Given the description of an element on the screen output the (x, y) to click on. 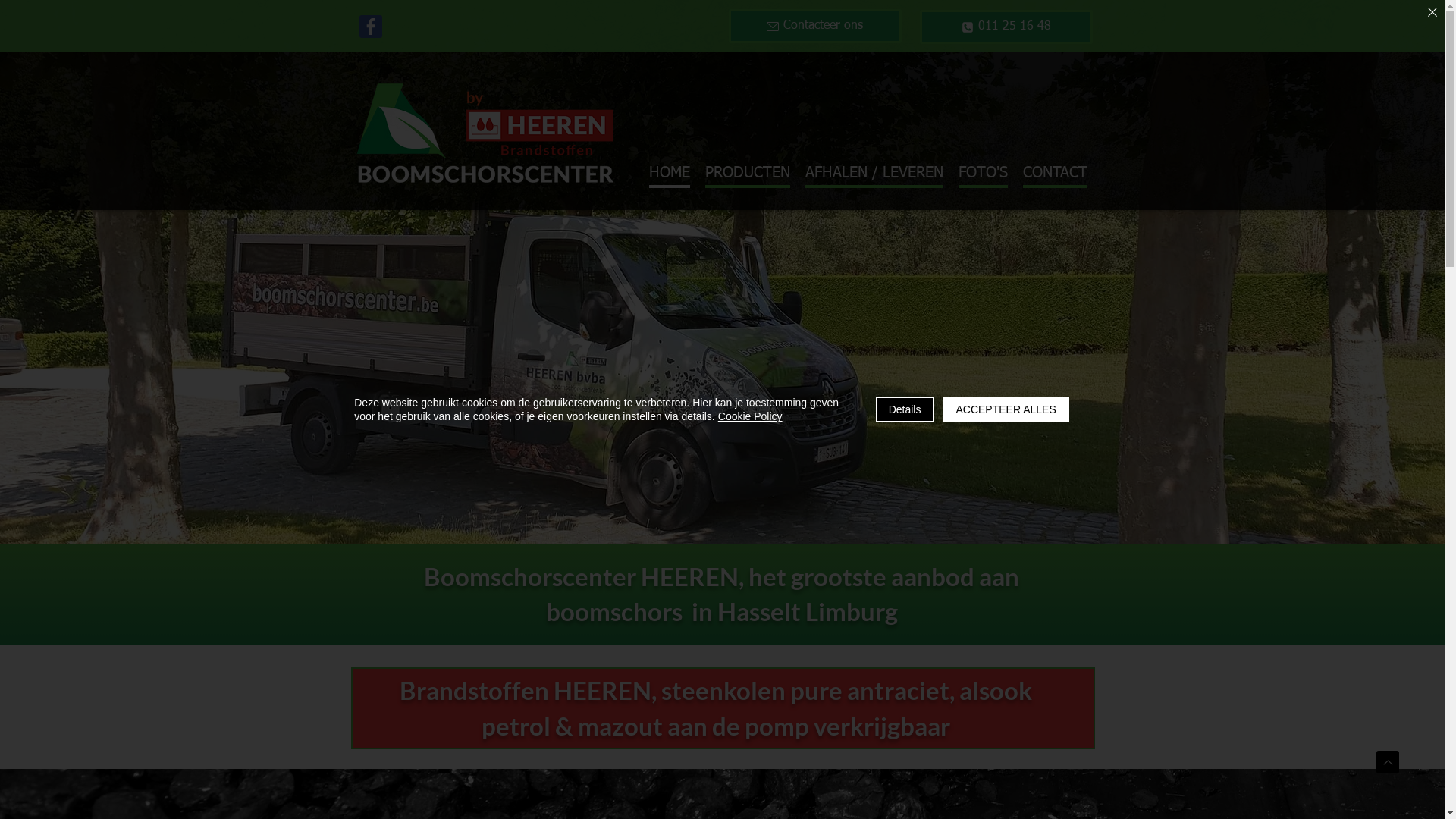
HOME Element type: text (669, 174)
CONTACT Element type: text (1054, 174)
PRODUCTEN Element type: text (747, 174)
Cookie Policy Element type: text (750, 416)
ACCEPTEER ALLES Element type: text (1005, 409)
011 25 16 48 Element type: text (1005, 26)
AFHALEN / LEVEREN Element type: text (874, 174)
FOTO'S Element type: text (982, 174)
Contacteer ons Element type: text (814, 26)
Details Element type: text (904, 409)
